Given the description of an element on the screen output the (x, y) to click on. 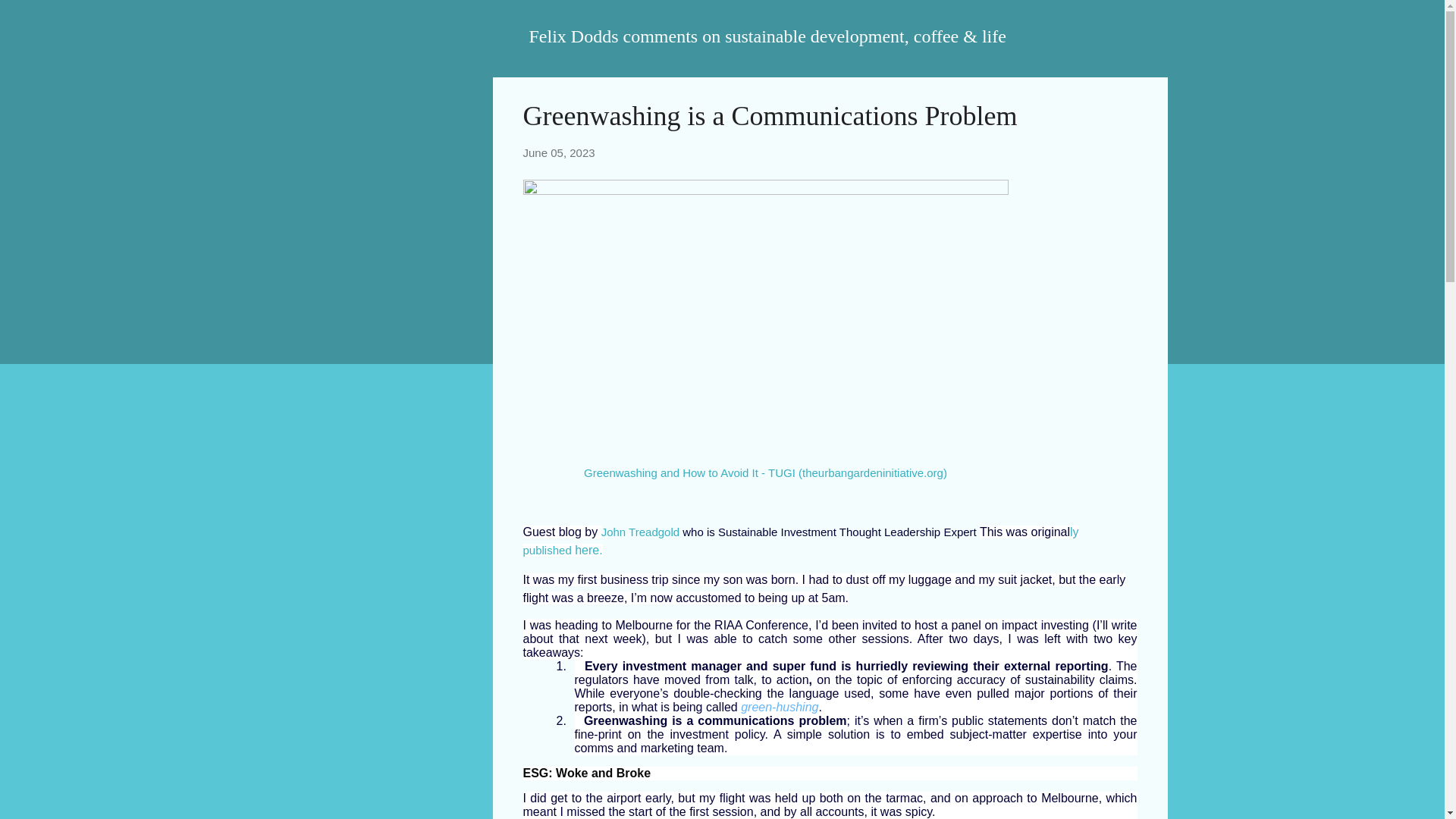
permanent link (558, 152)
green-hushing (779, 707)
Search (29, 18)
John Treadgold (640, 530)
published here. (562, 549)
June 05, 2023 (558, 152)
